Given the description of an element on the screen output the (x, y) to click on. 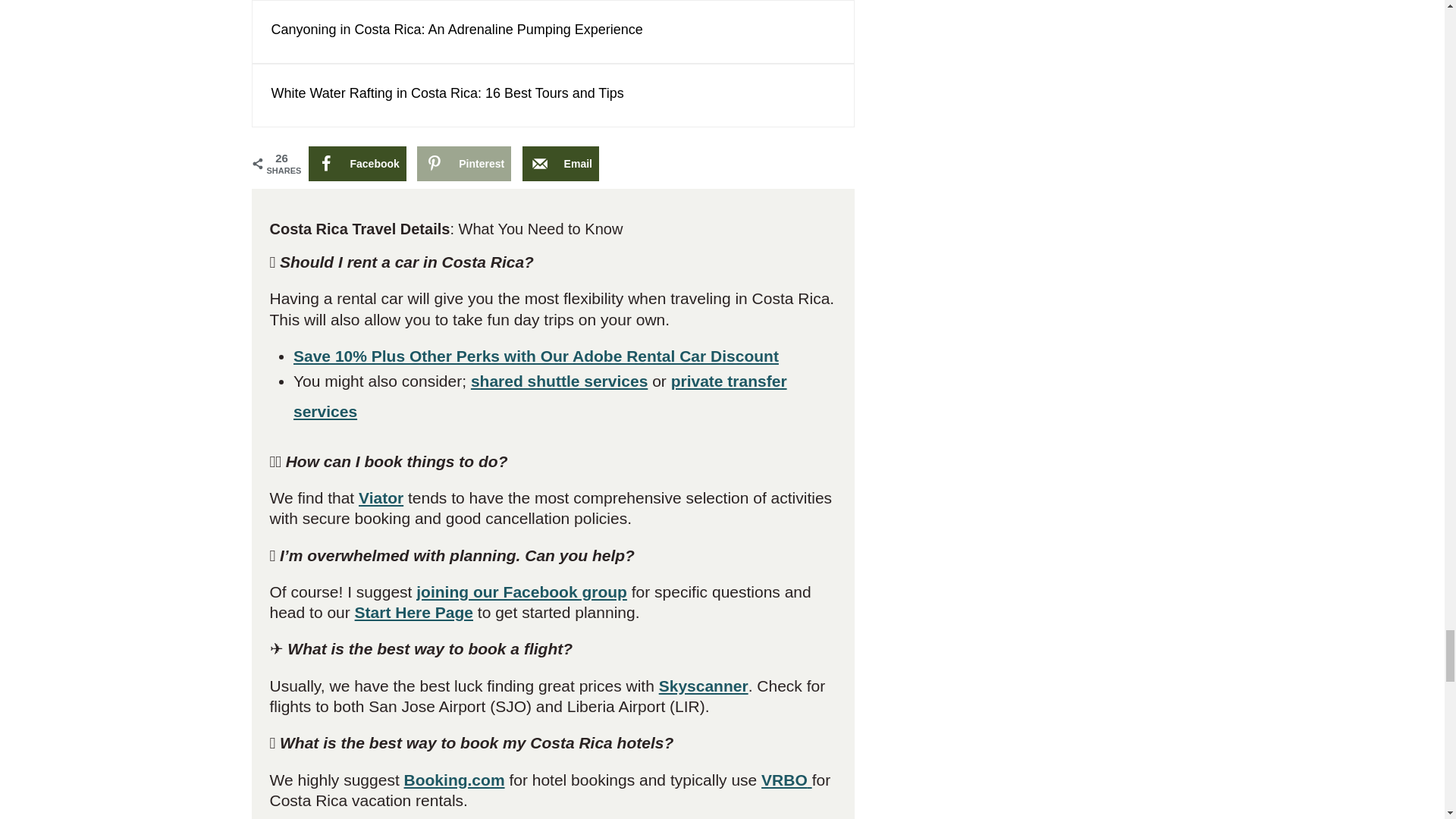
Save to Pinterest (463, 163)
Share on Facebook (356, 163)
Send over email (560, 163)
